Given the description of an element on the screen output the (x, y) to click on. 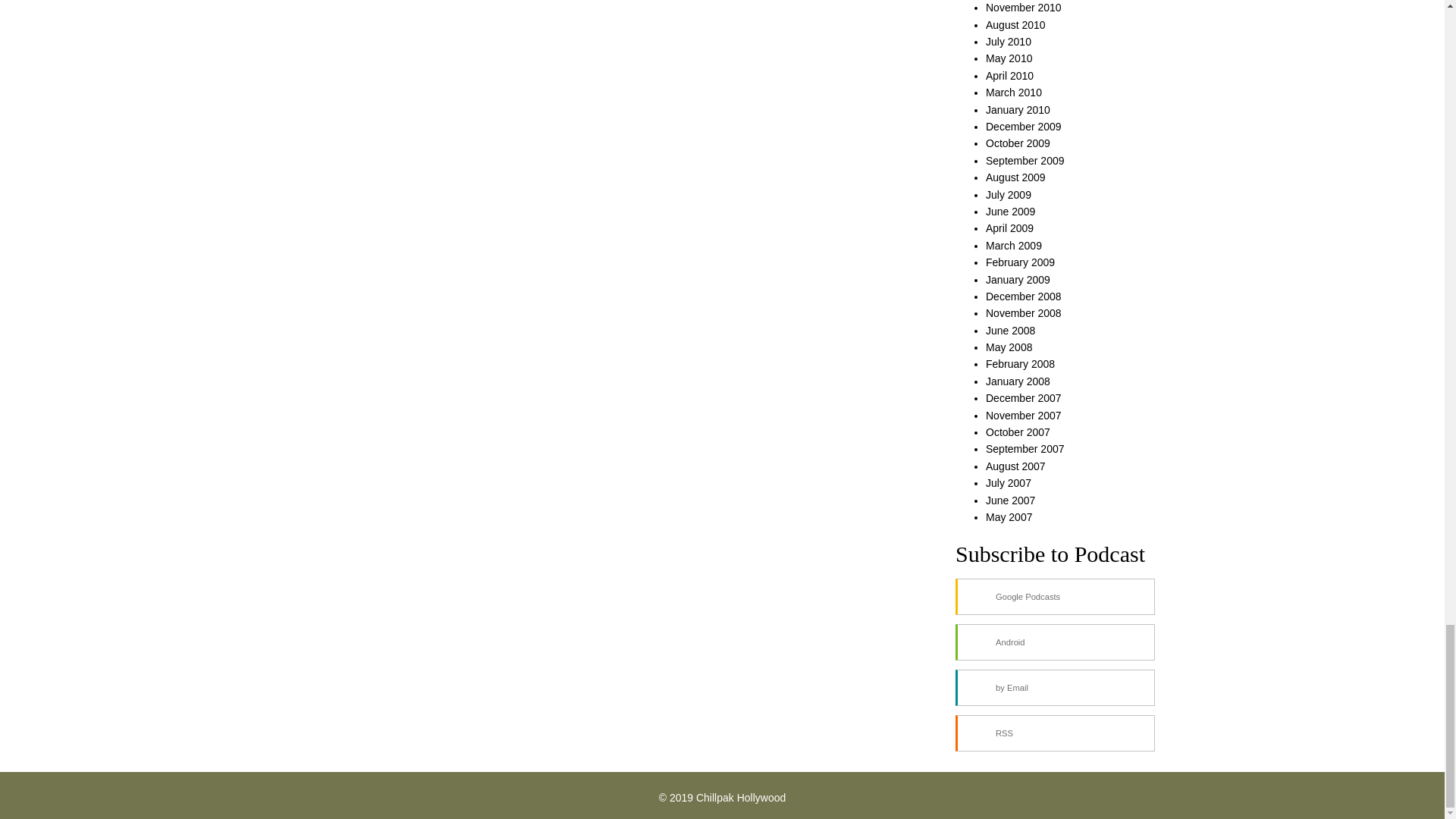
Subscribe by Email (1054, 687)
Subscribe on Android (1054, 642)
Subscribe via RSS (1054, 732)
Subscribe on Google Podcasts (1054, 596)
